Given the description of an element on the screen output the (x, y) to click on. 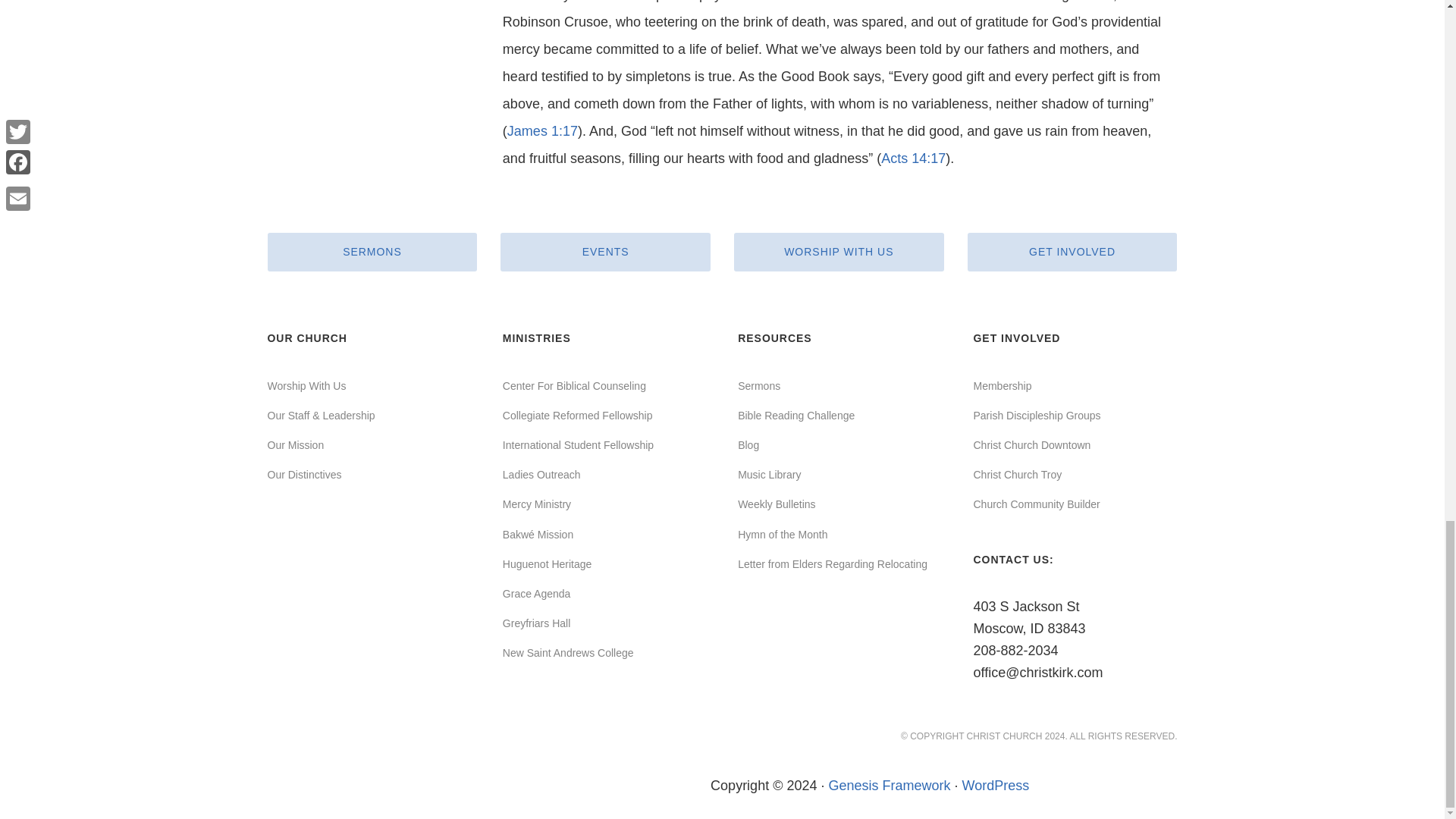
EVENTS (605, 251)
New Saint Andrews College (567, 653)
Bible Reading Challenge (796, 415)
Grace Agenda (536, 593)
Collegiate Reformed Fellowship (577, 415)
Blog (748, 444)
SERMONS (371, 251)
James 1:17 (542, 130)
Our Mission (294, 444)
Worship With Us (306, 386)
Acts 14:17 (912, 158)
WORSHIP WITH US (838, 251)
Sermons (759, 386)
Center For Biblical Counseling (574, 386)
Mercy Ministry (536, 503)
